Given the description of an element on the screen output the (x, y) to click on. 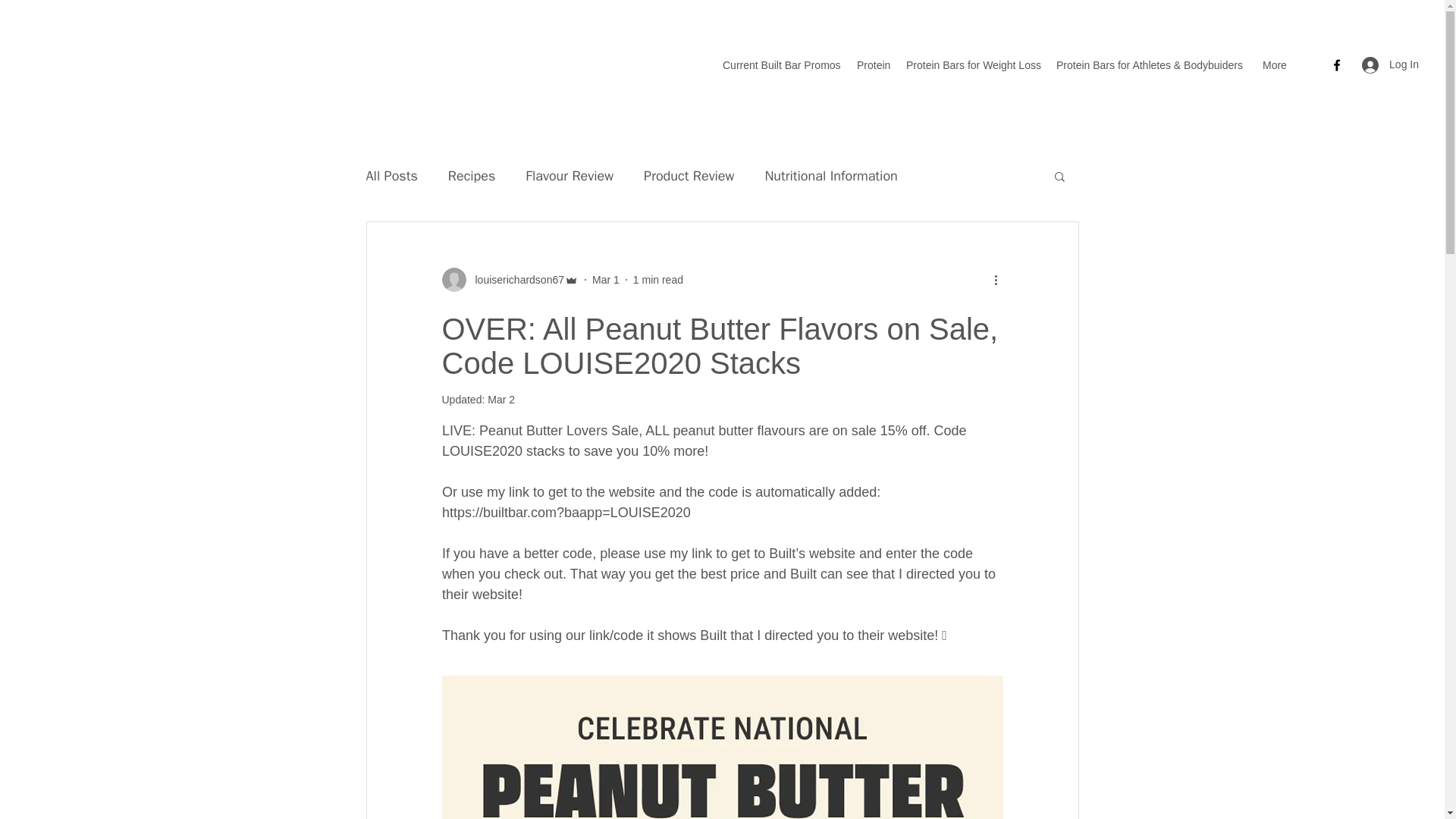
Recipes (472, 176)
Log In (1390, 64)
louiserichardson67 (509, 279)
Product Review (688, 176)
Current Built Bar Promos (781, 65)
Mar 1 (606, 278)
1 min read (657, 278)
louiserichardson67 (514, 279)
Mar 2 (501, 399)
Nutritional Information (830, 176)
